Given the description of an element on the screen output the (x, y) to click on. 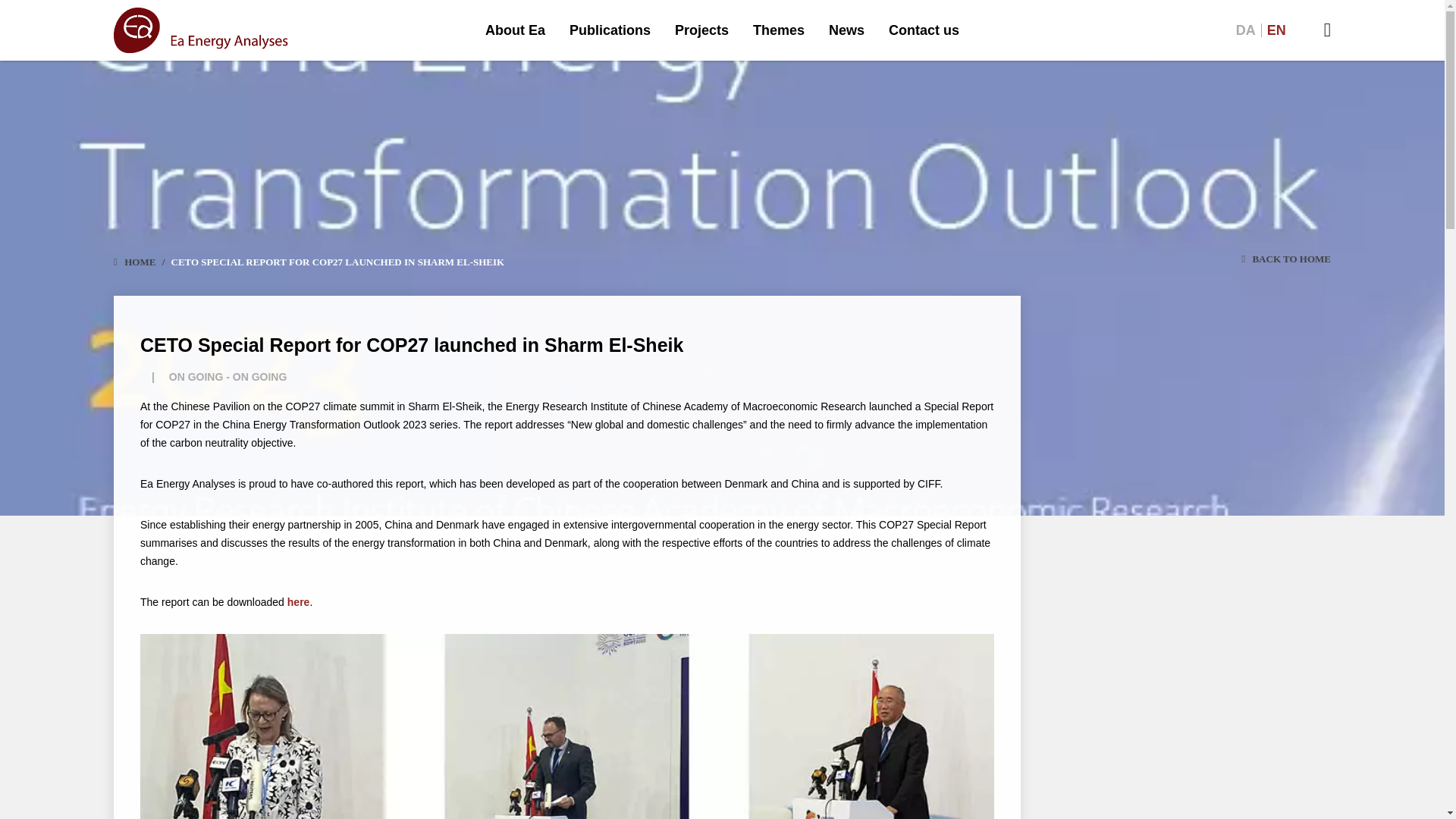
News (846, 29)
EN (1275, 29)
Publications (609, 29)
BACK TO HOME (1186, 259)
Projects (701, 29)
HOME (139, 261)
Themes (778, 29)
DA (1245, 29)
Contact us (923, 29)
here (298, 602)
